Given the description of an element on the screen output the (x, y) to click on. 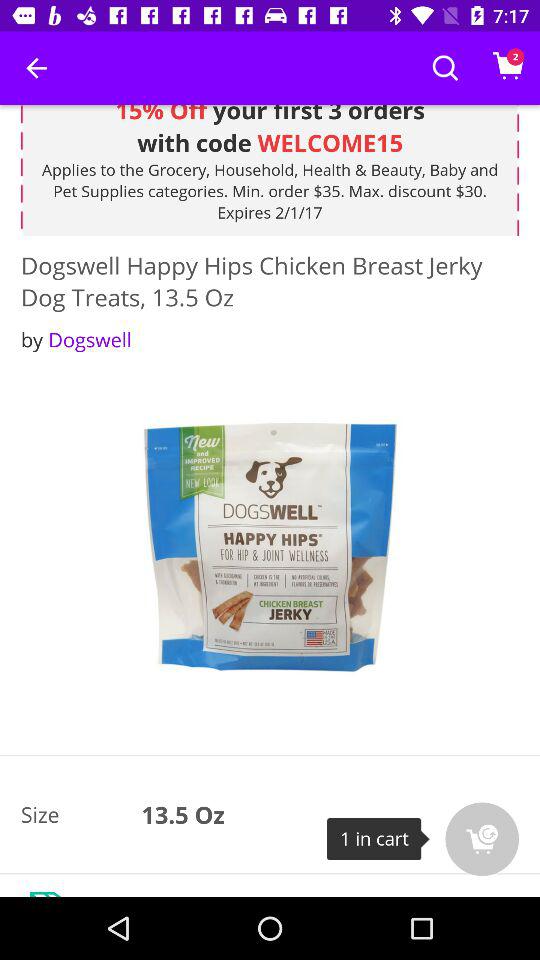
click on by dogswell (76, 339)
select 5 lines text which is the top of the page (269, 170)
select the symbol which is to the immediate left of cart symbol (445, 67)
select the cart refresh from the bottom right corner of the page (482, 839)
